Given the description of an element on the screen output the (x, y) to click on. 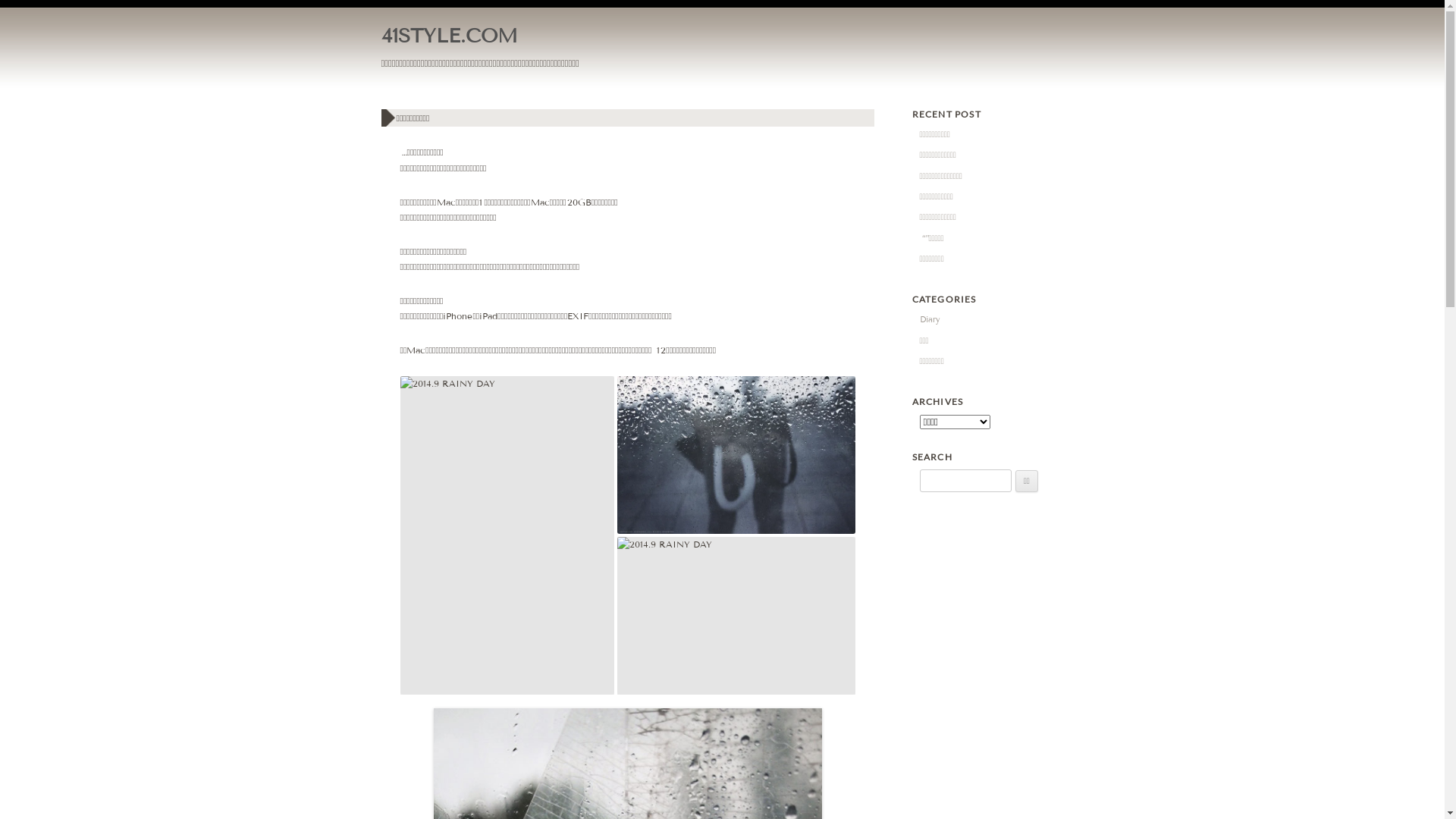
Diary Element type: text (929, 318)
41STYLE.COM Element type: text (448, 36)
